Given the description of an element on the screen output the (x, y) to click on. 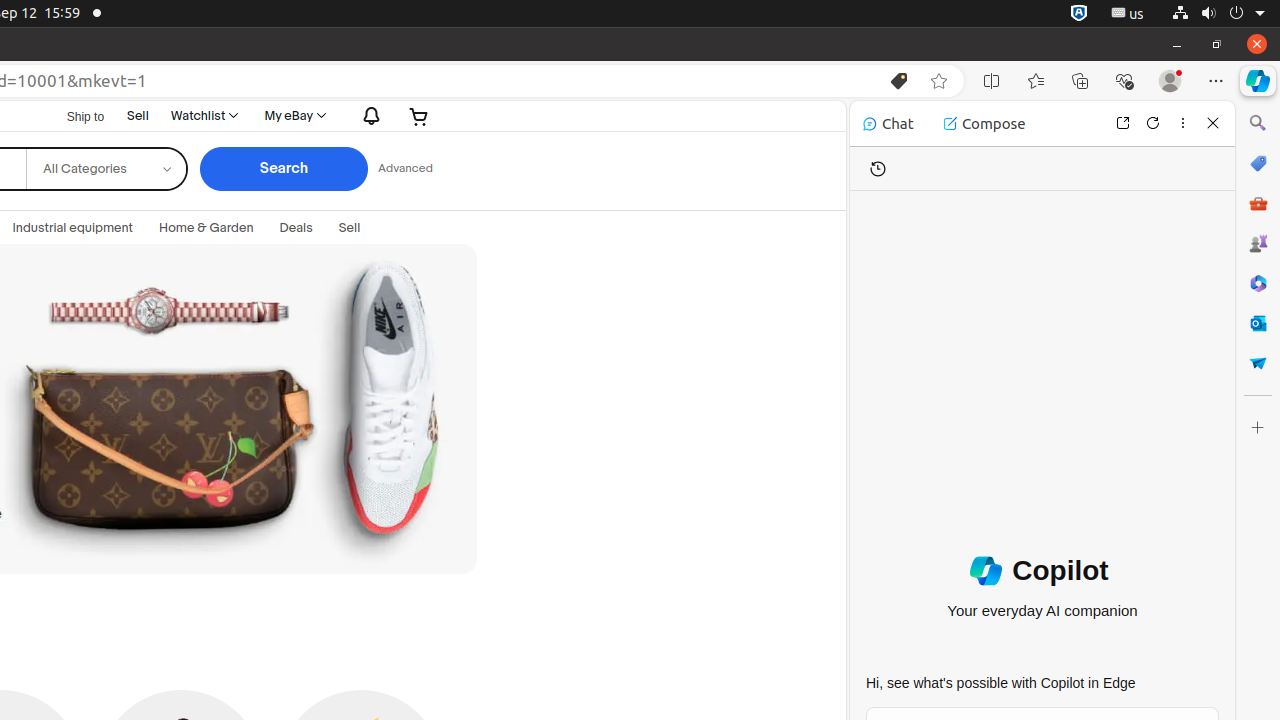
Search Element type: push-button (283, 169)
Games Element type: push-button (1258, 243)
Watchlist Element type: link (203, 115)
Tools Element type: push-button (1258, 202)
Settings and more (Alt+F) Element type: push-button (1216, 81)
